Given the description of an element on the screen output the (x, y) to click on. 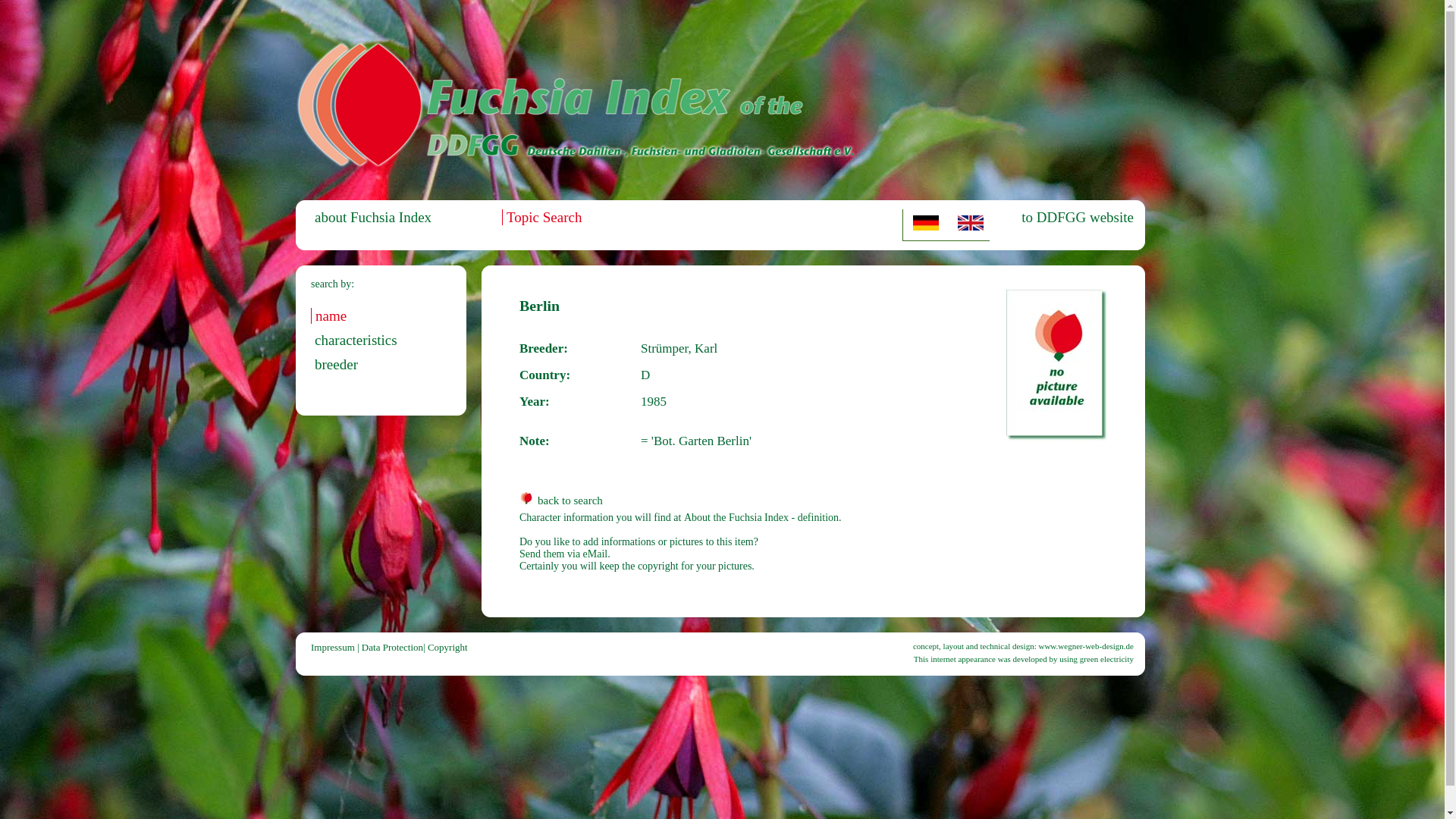
Topic Search (541, 217)
About the Fuchsia Index - definition (761, 517)
breeder (334, 364)
name (328, 315)
Send them via eMail. (564, 553)
about Fuchsia Index (370, 217)
back to search (560, 500)
characteristics (354, 340)
